Given the description of an element on the screen output the (x, y) to click on. 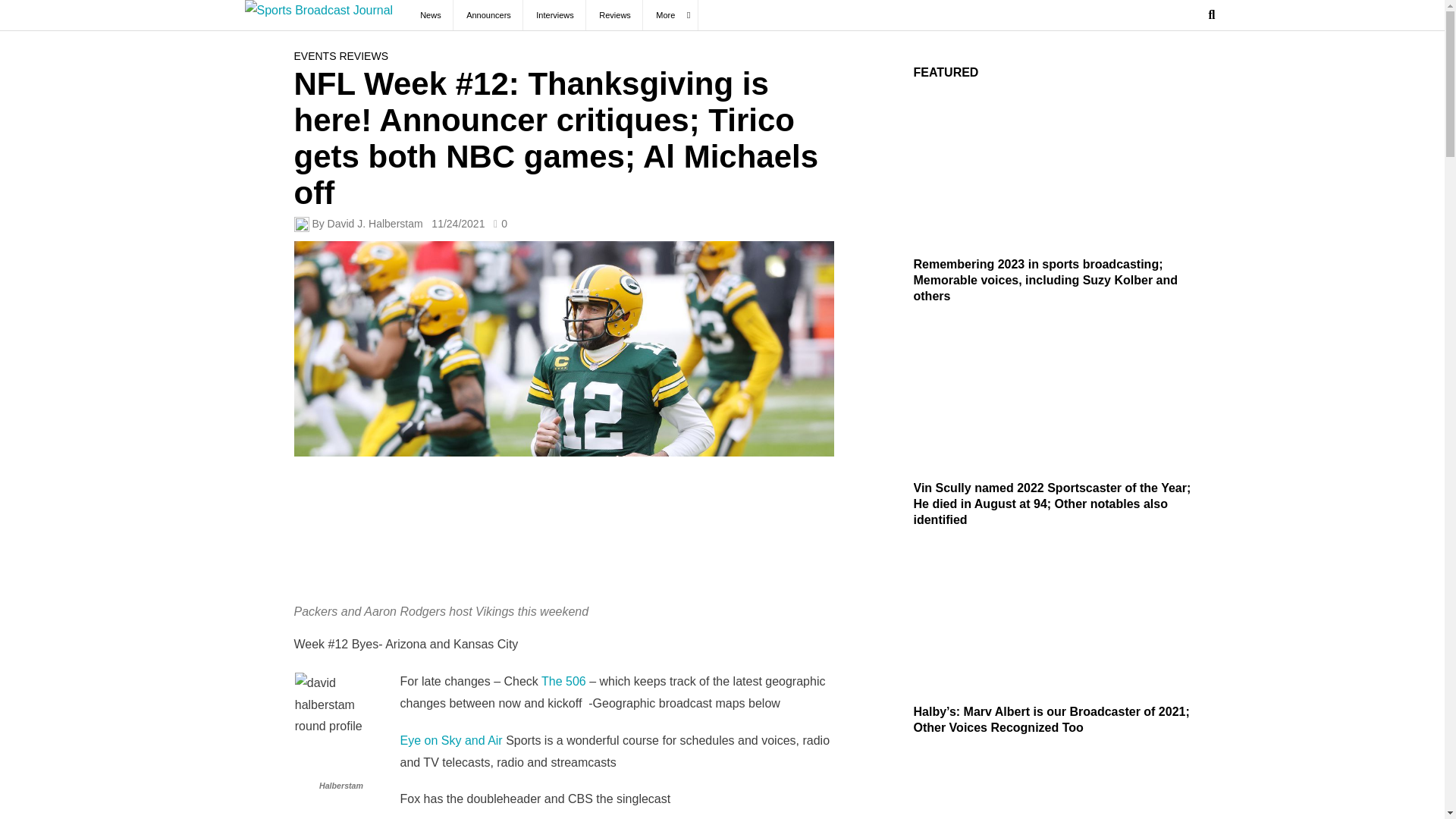
Reviews (614, 15)
Eye on Sky and Air (451, 739)
More (670, 15)
0 (499, 223)
News (429, 15)
Search (1183, 65)
Interviews (555, 15)
The 506 (562, 680)
